Given the description of an element on the screen output the (x, y) to click on. 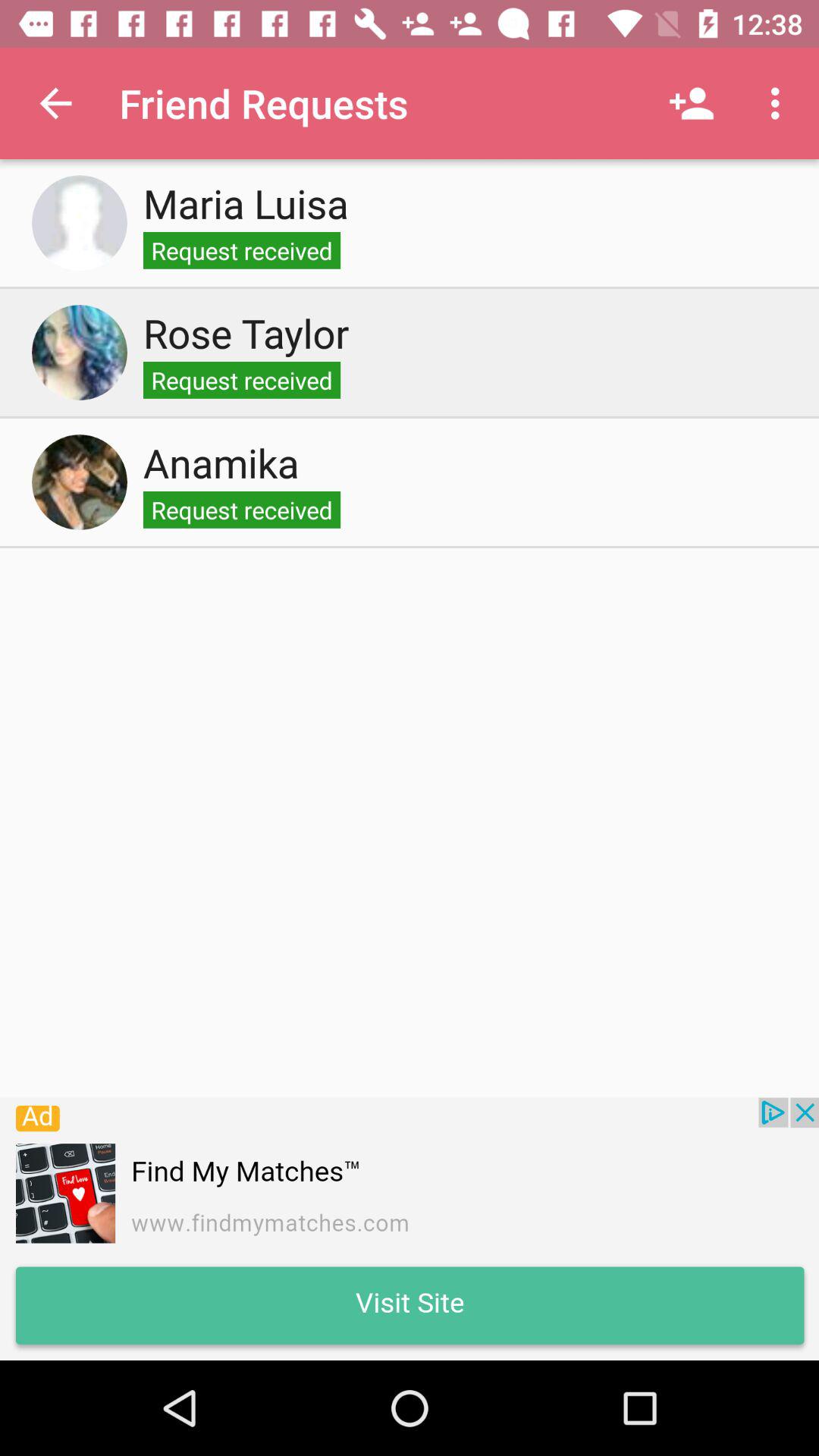
click to select person (79, 482)
